Given the description of an element on the screen output the (x, y) to click on. 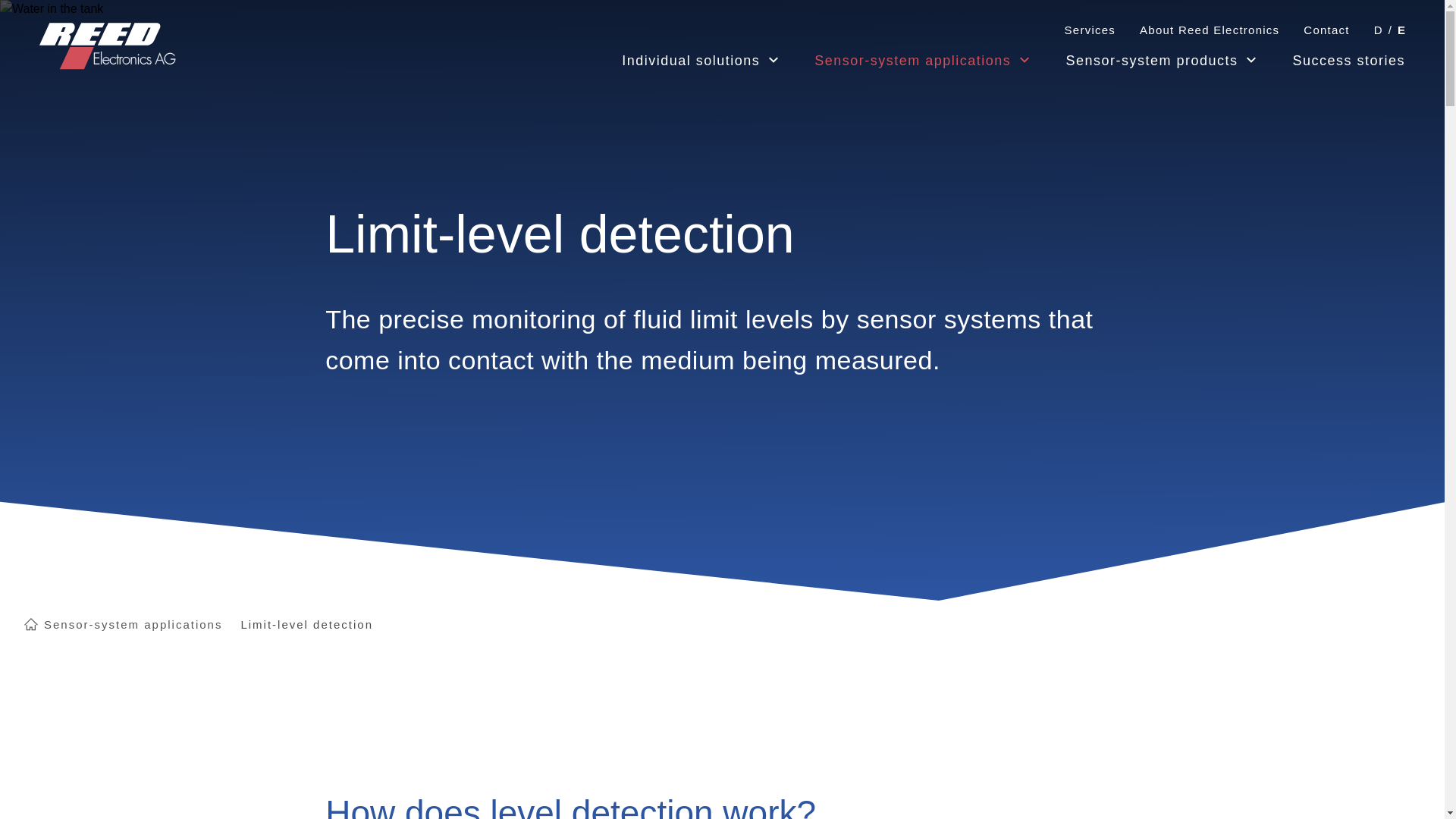
Individual solutions (690, 60)
Sensor-system applications (132, 624)
Sensor-system products (1151, 60)
Sensor-system applications (911, 60)
Startseite (107, 45)
Contact (1326, 29)
Services (1090, 29)
Success stories (1348, 60)
About Reed Electronics (1209, 29)
Home (30, 623)
